Given the description of an element on the screen output the (x, y) to click on. 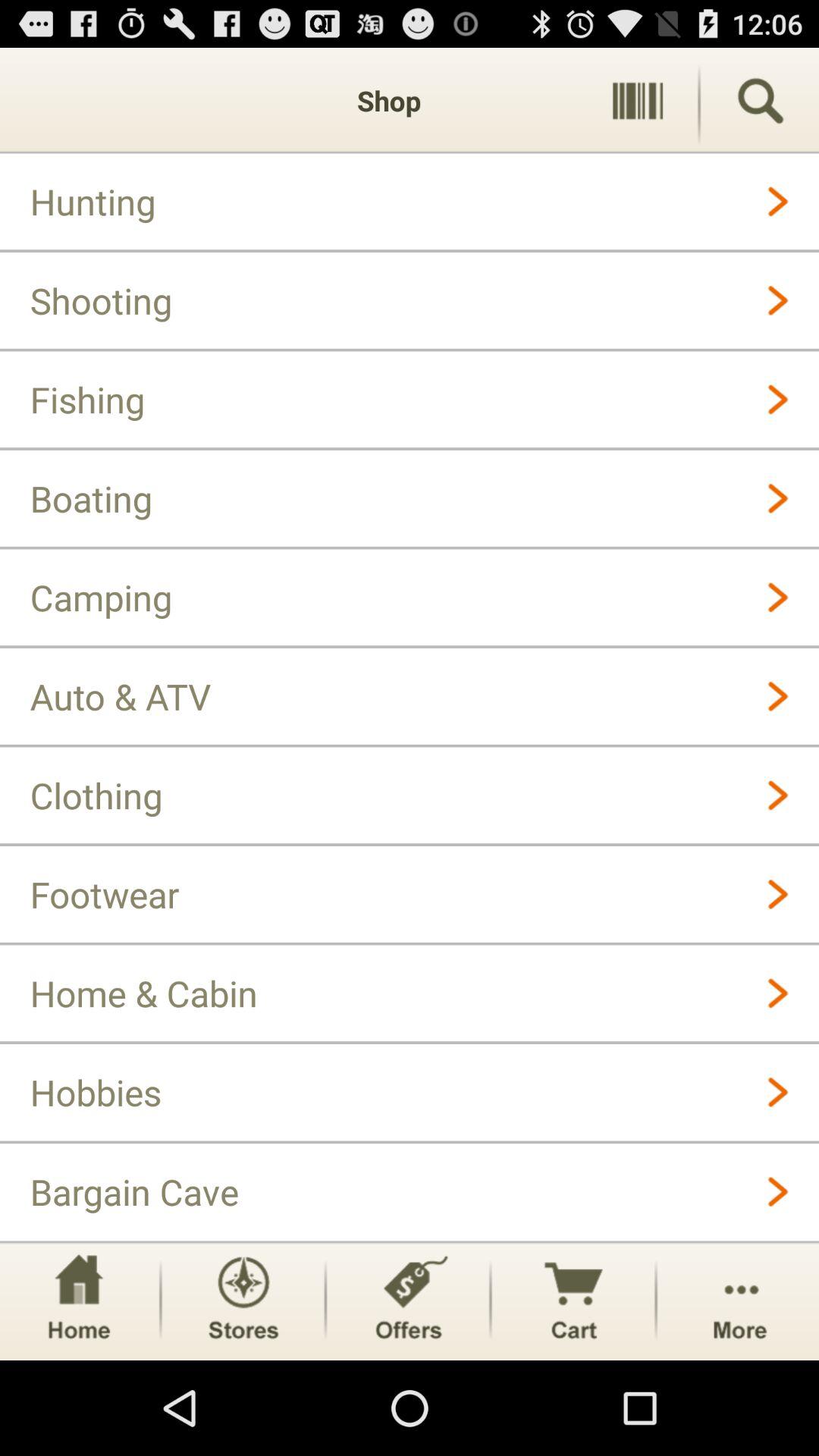
click on the stores image option (243, 1300)
click the search icon beside bar code (759, 101)
click on the third option from last (407, 1300)
